Given the description of an element on the screen output the (x, y) to click on. 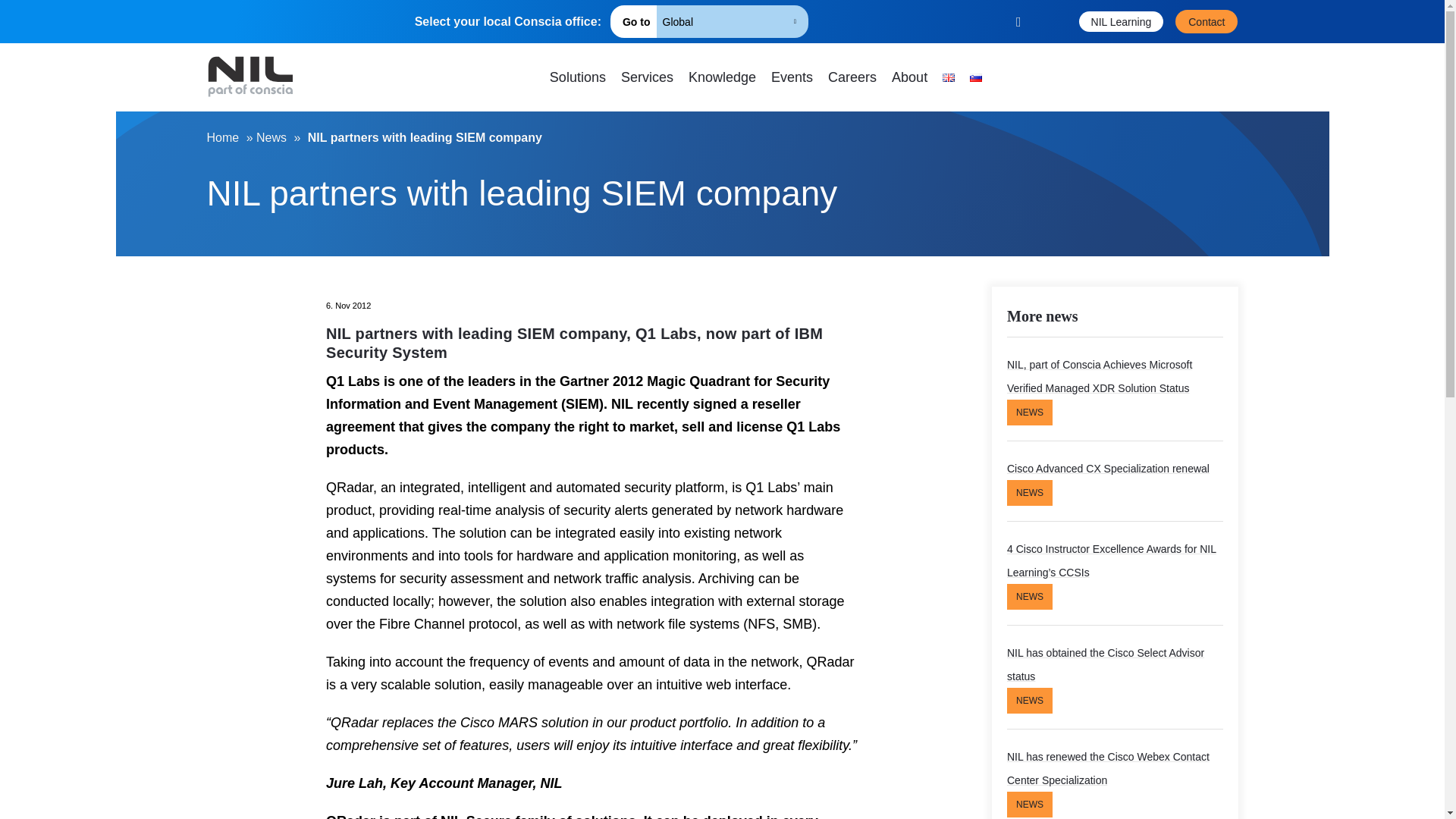
Services (646, 77)
Solutions (577, 77)
